Given the description of an element on the screen output the (x, y) to click on. 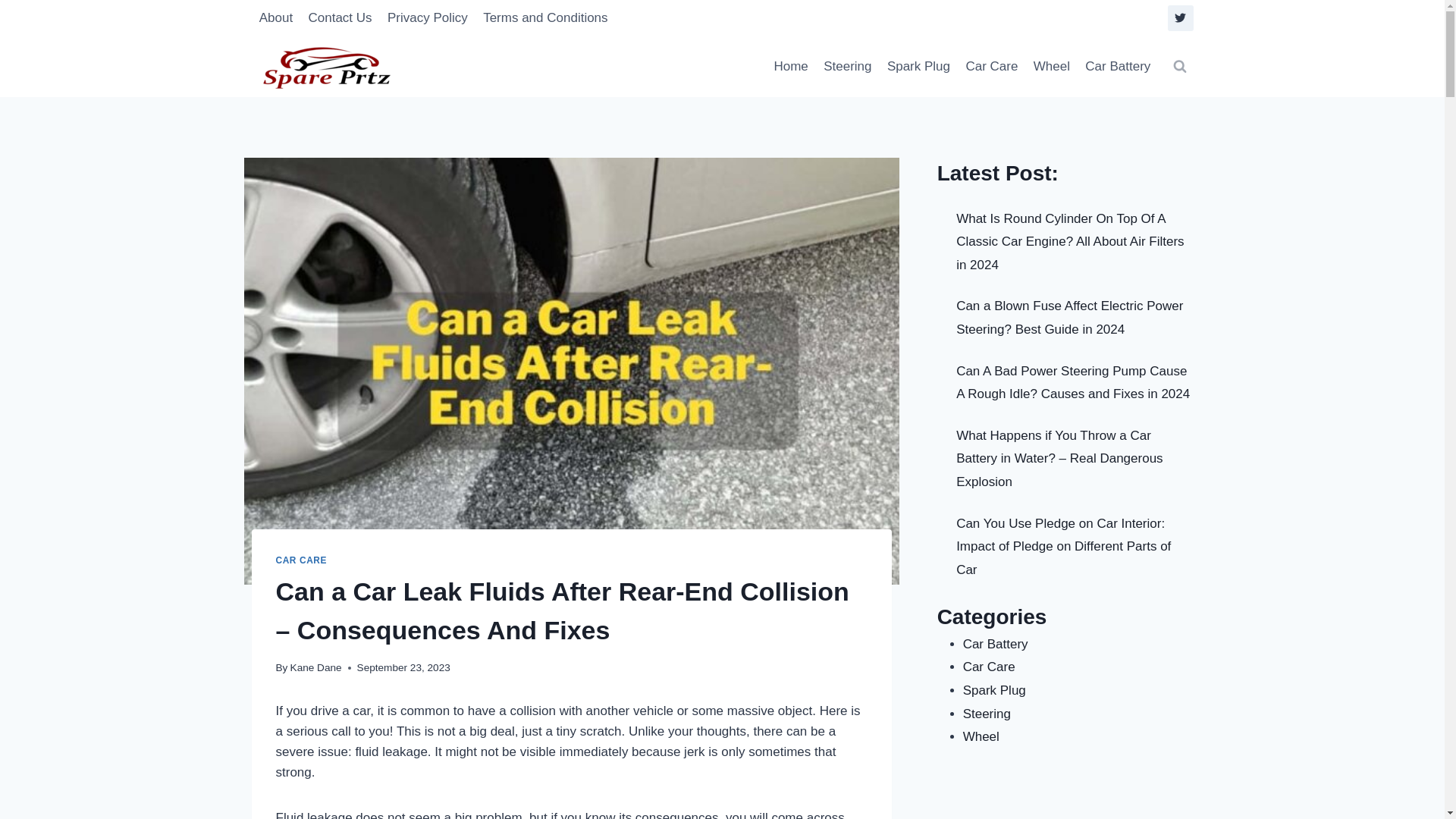
Kane Dane (315, 667)
CAR CARE (301, 560)
Car Care (991, 66)
Steering (847, 66)
Contact Us (338, 18)
Car Battery (1117, 66)
About (276, 18)
Home (790, 66)
Wheel (1052, 66)
Terms and Conditions (545, 18)
